Given the description of an element on the screen output the (x, y) to click on. 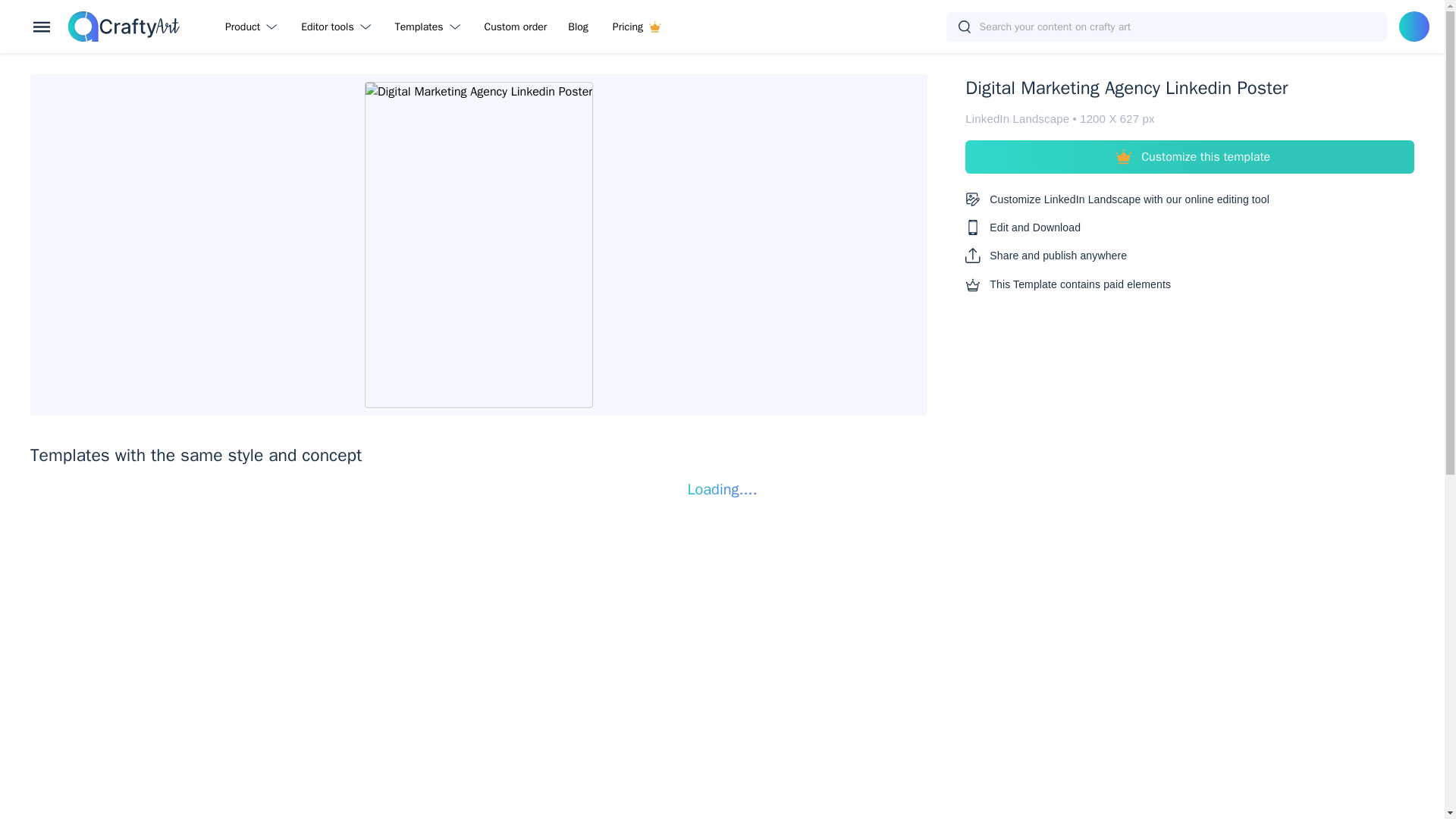
Pricing (635, 26)
Templates (430, 26)
Blog (577, 26)
Editor tools (338, 26)
Custom order (516, 26)
Product (253, 26)
